Given the description of an element on the screen output the (x, y) to click on. 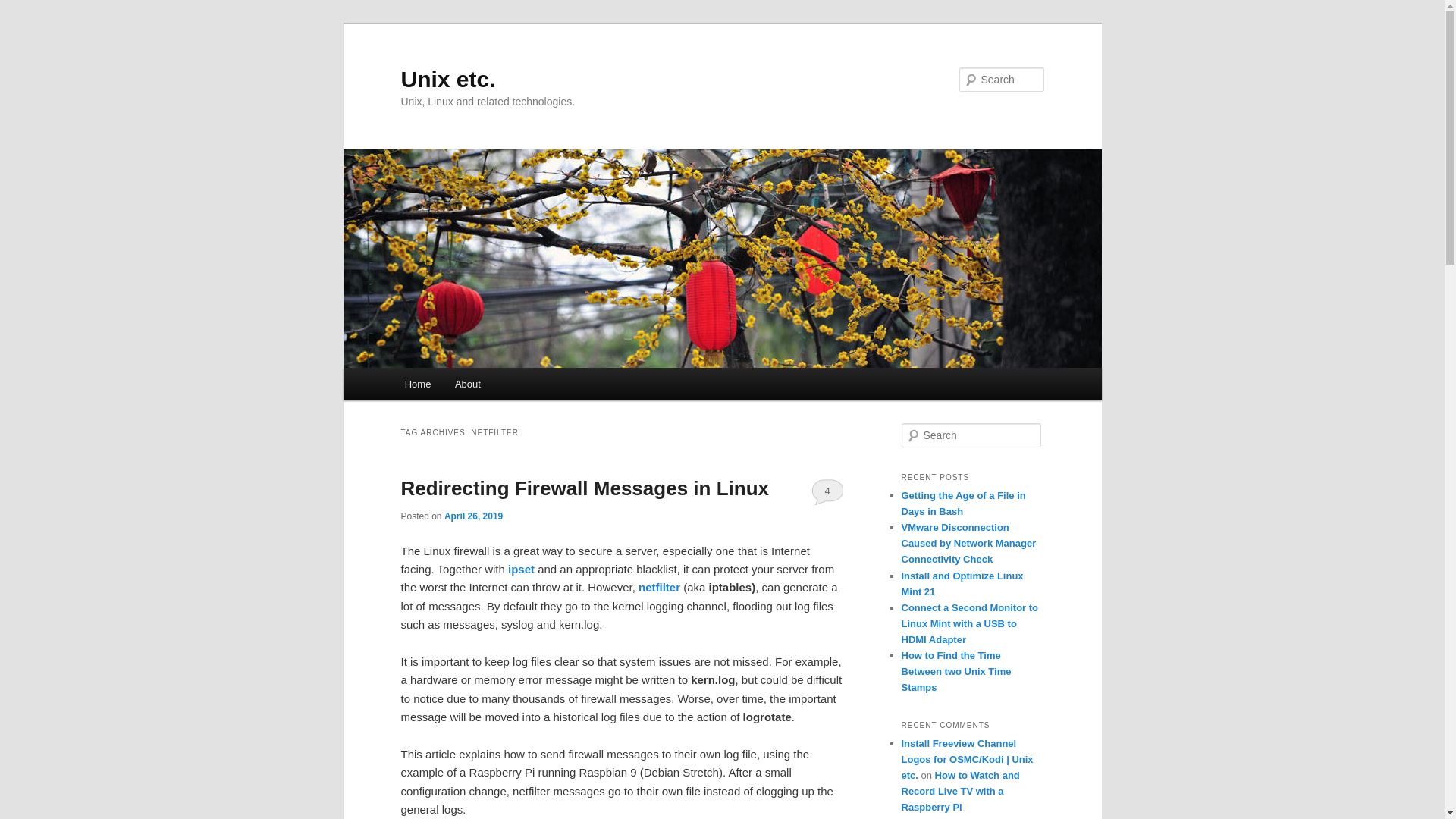
Unix etc. (447, 78)
April 26, 2019 (473, 516)
4 (827, 491)
Search (24, 8)
netfilter (659, 586)
3:20 pm (473, 516)
Home (417, 383)
About (467, 383)
ipset (521, 568)
Redirecting Firewall Messages in Linux (584, 487)
